Given the description of an element on the screen output the (x, y) to click on. 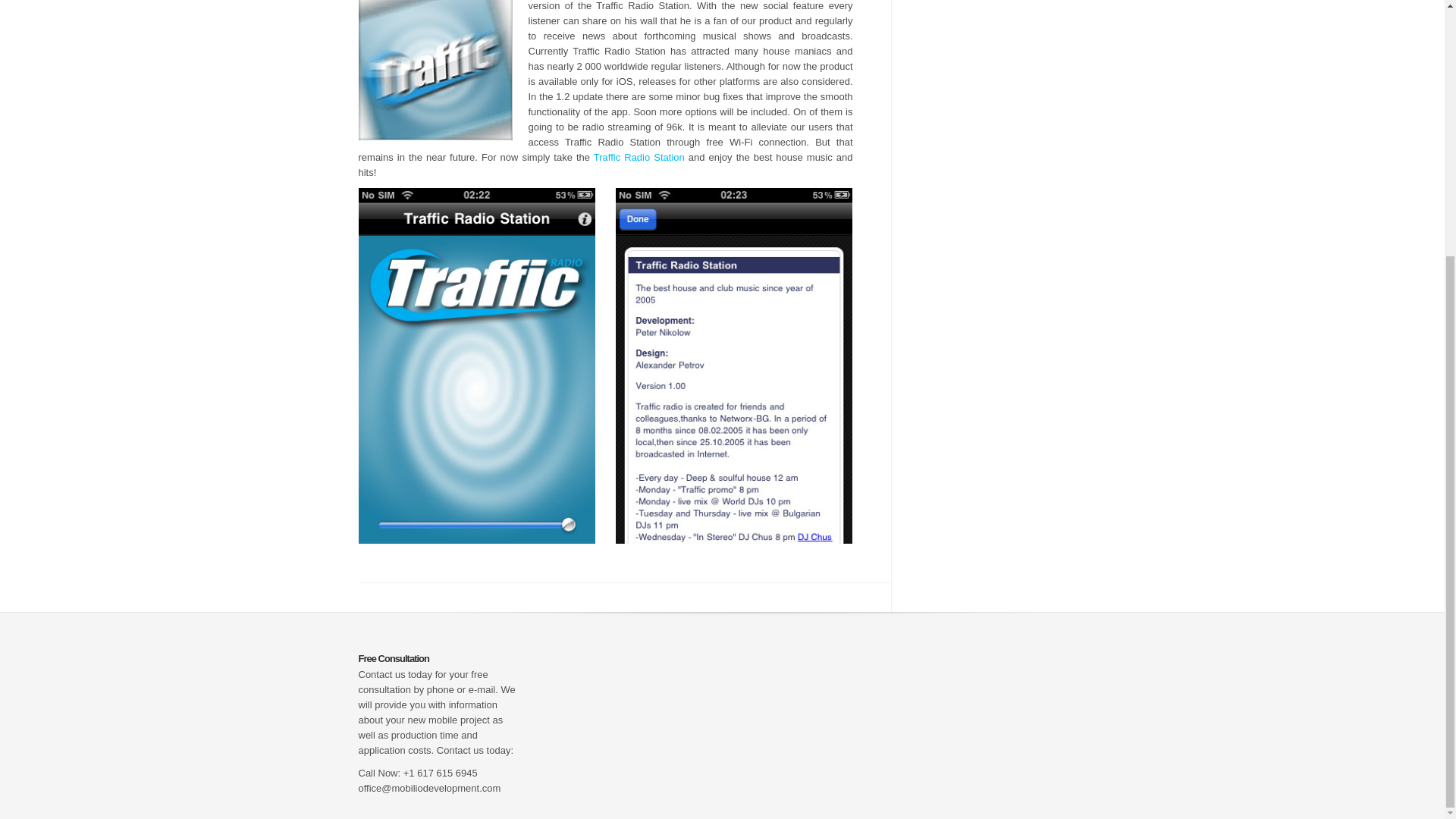
Traffic Radio Station 1.2 (476, 540)
Traffic Radio Station Version 1.2 (734, 540)
Traffic Radio Station Version 1.2 (639, 156)
Traffic Radio Station (639, 156)
